Given the description of an element on the screen output the (x, y) to click on. 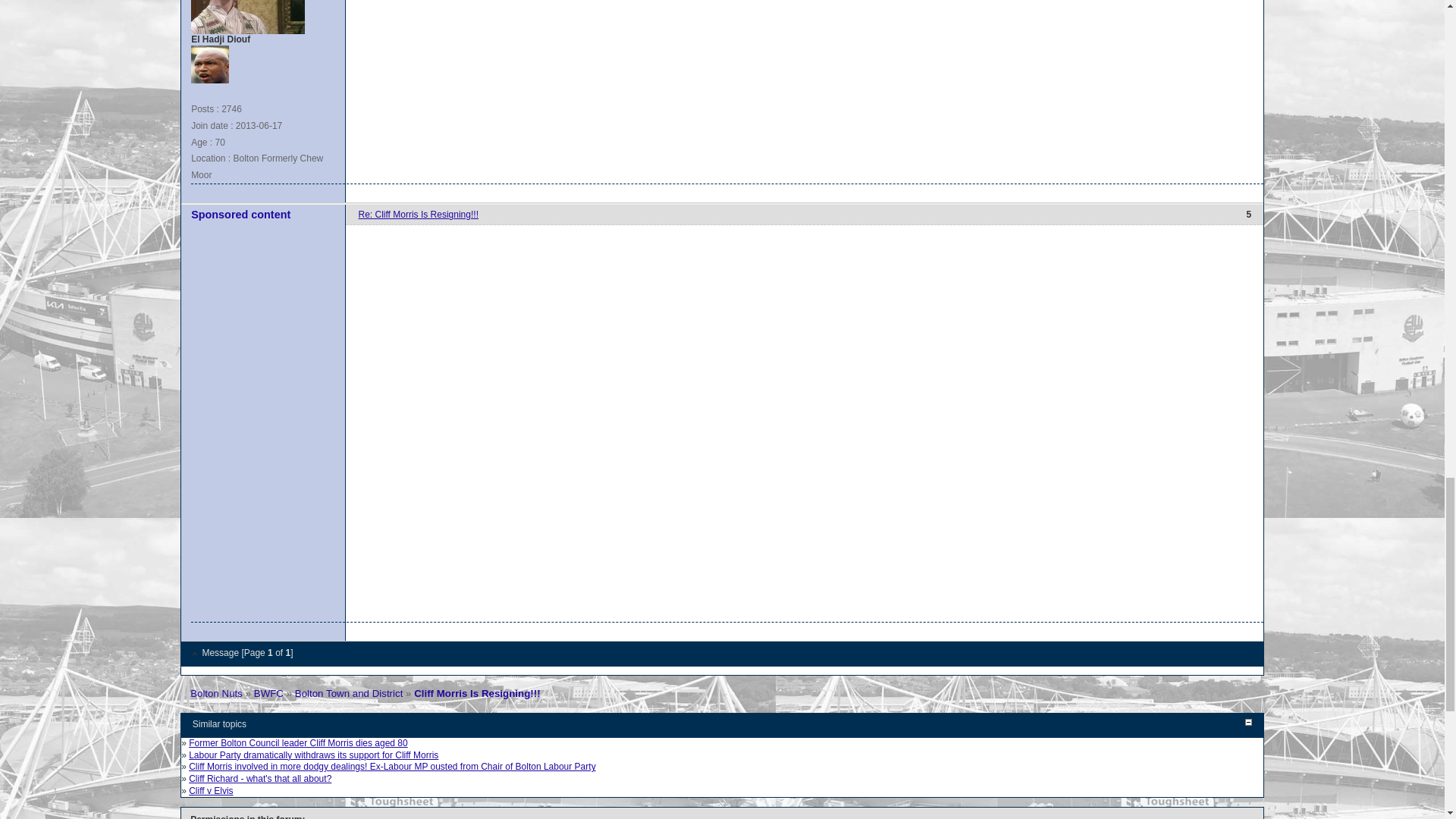
Bolton Town and District (349, 693)
BWFC (268, 693)
Cliff v Elvis (210, 790)
Bolton Nuts (216, 693)
Cliff Morris Is Resigning!!! (476, 693)
Re: Cliff Morris Is Resigning!!! (418, 214)
El Hadji Diouf (209, 64)
Cliff Richard - what's that all about? (260, 778)
Former Bolton Council leader Cliff Morris dies aged 80 (298, 742)
Former Bolton Council leader Cliff Morris dies aged 80 (298, 742)
